Given the description of an element on the screen output the (x, y) to click on. 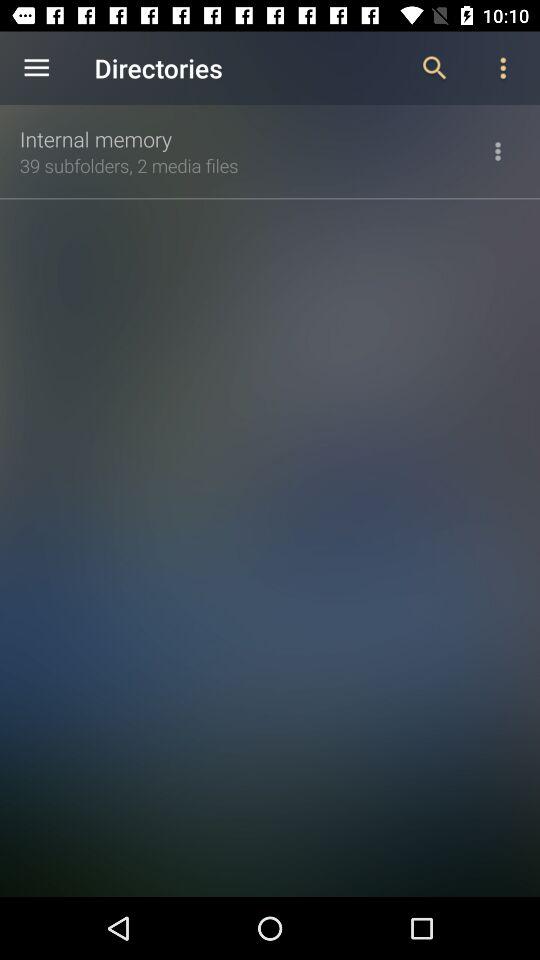
select the item next to the directories icon (434, 67)
